Given the description of an element on the screen output the (x, y) to click on. 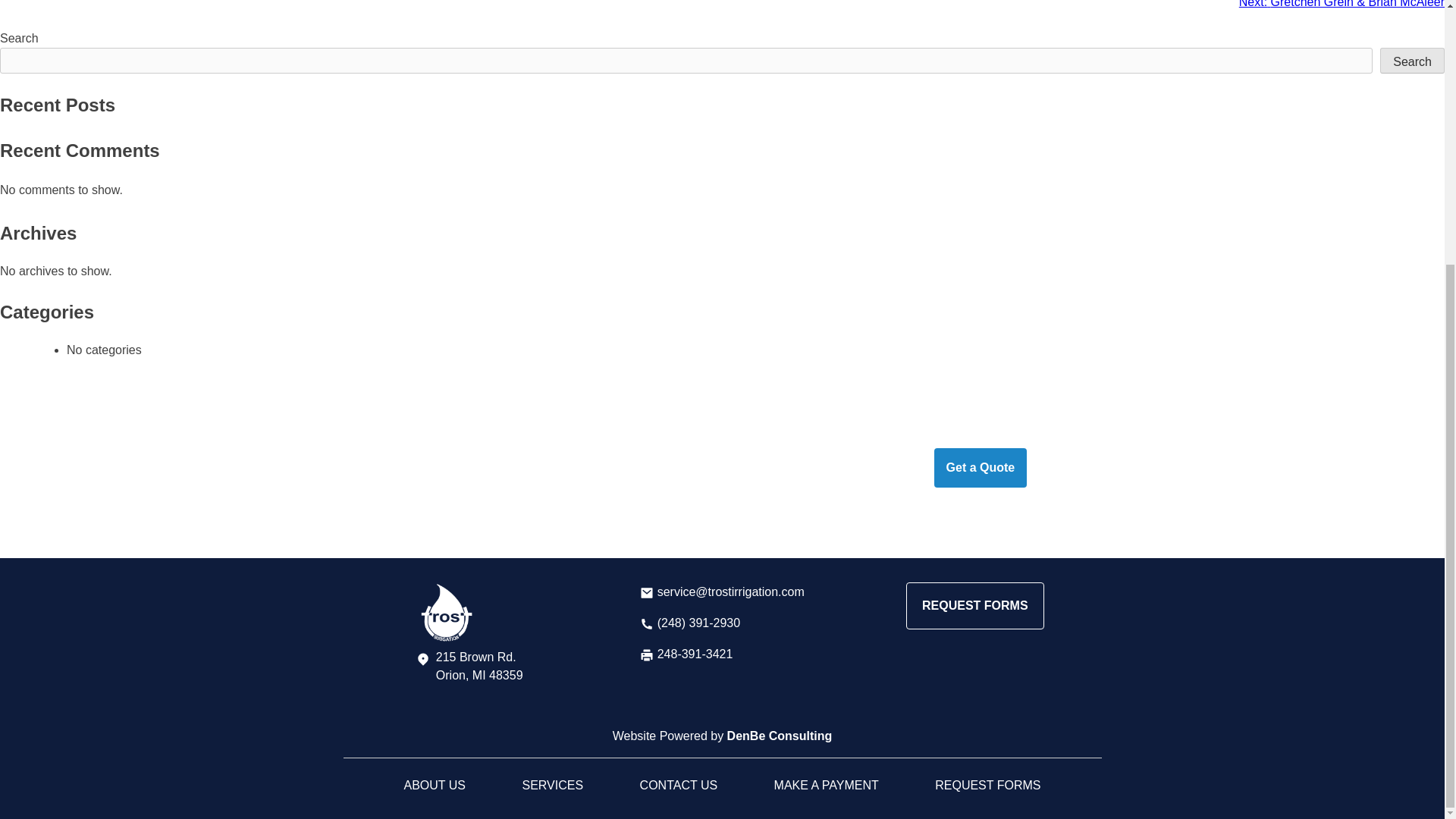
ABOUT US (434, 784)
248-391-3421 (686, 653)
CONTACT US (678, 784)
SERVICES (552, 784)
MAKE A PAYMENT (826, 784)
REQUEST FORMS (974, 605)
REQUEST FORMS (987, 784)
DenBe Consulting (779, 735)
Get a Quote (980, 467)
